Given the description of an element on the screen output the (x, y) to click on. 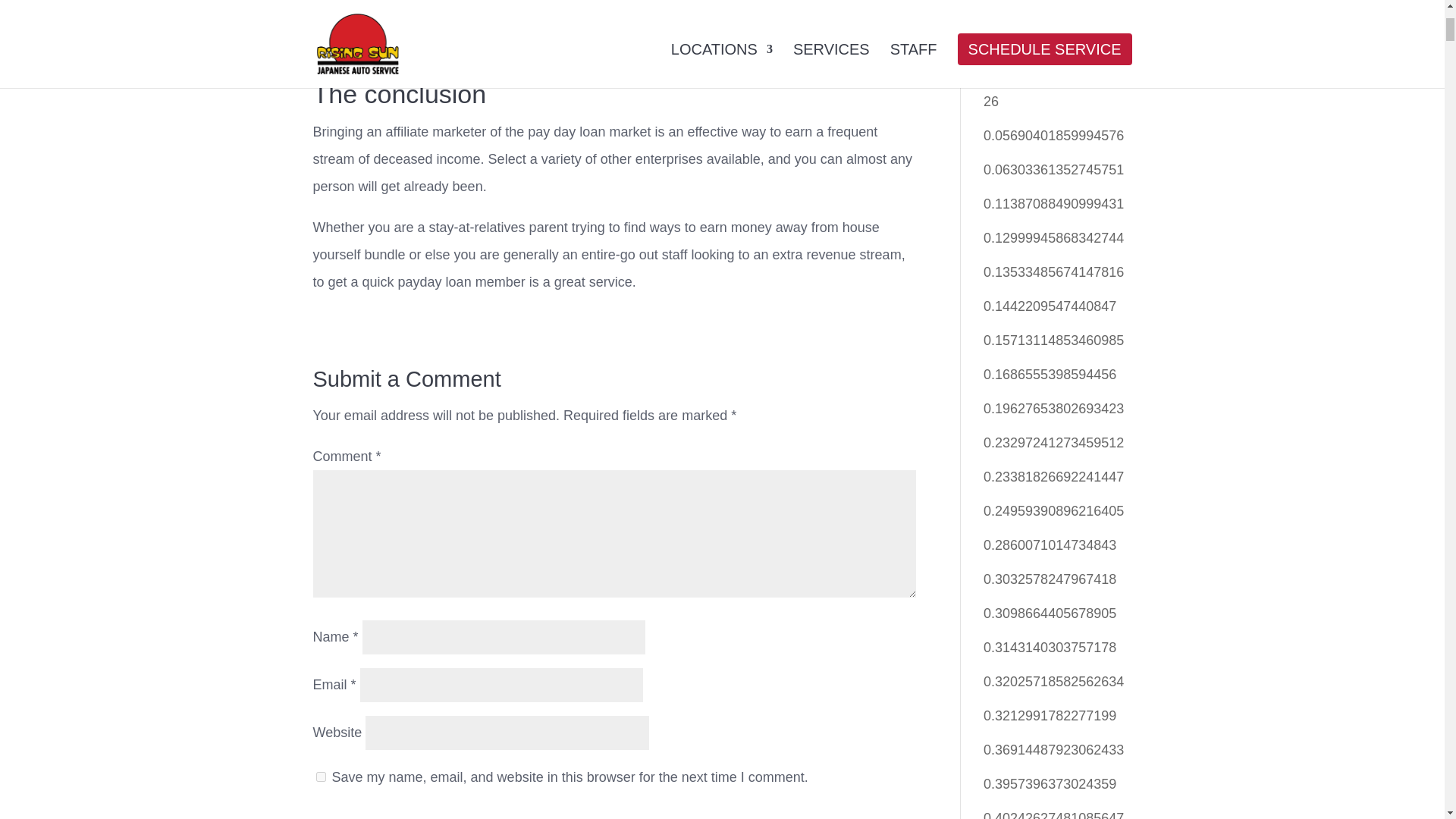
Submit Comment (373, 811)
Submit Comment (373, 811)
yes (319, 777)
